Given the description of an element on the screen output the (x, y) to click on. 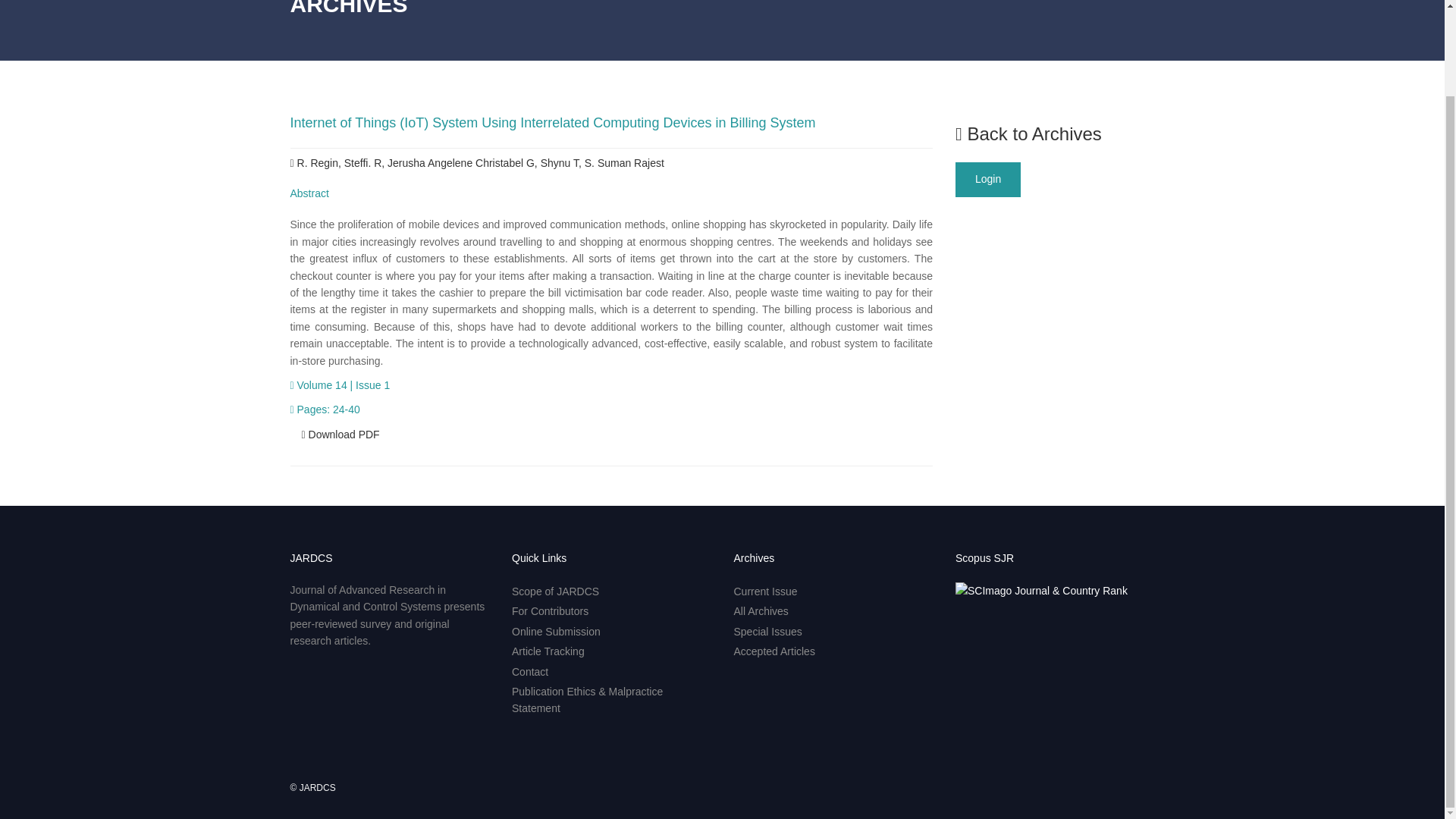
Download PDF (340, 434)
Article Tracking (548, 651)
Contact (530, 671)
Online Submission (555, 631)
All Archives (761, 611)
Back to Archives (1028, 133)
Current Issue (765, 591)
Accepted Articles (774, 651)
Login (987, 179)
Scope of JARDCS (555, 591)
For Contributors (550, 611)
Special Issues (767, 631)
